Given the description of an element on the screen output the (x, y) to click on. 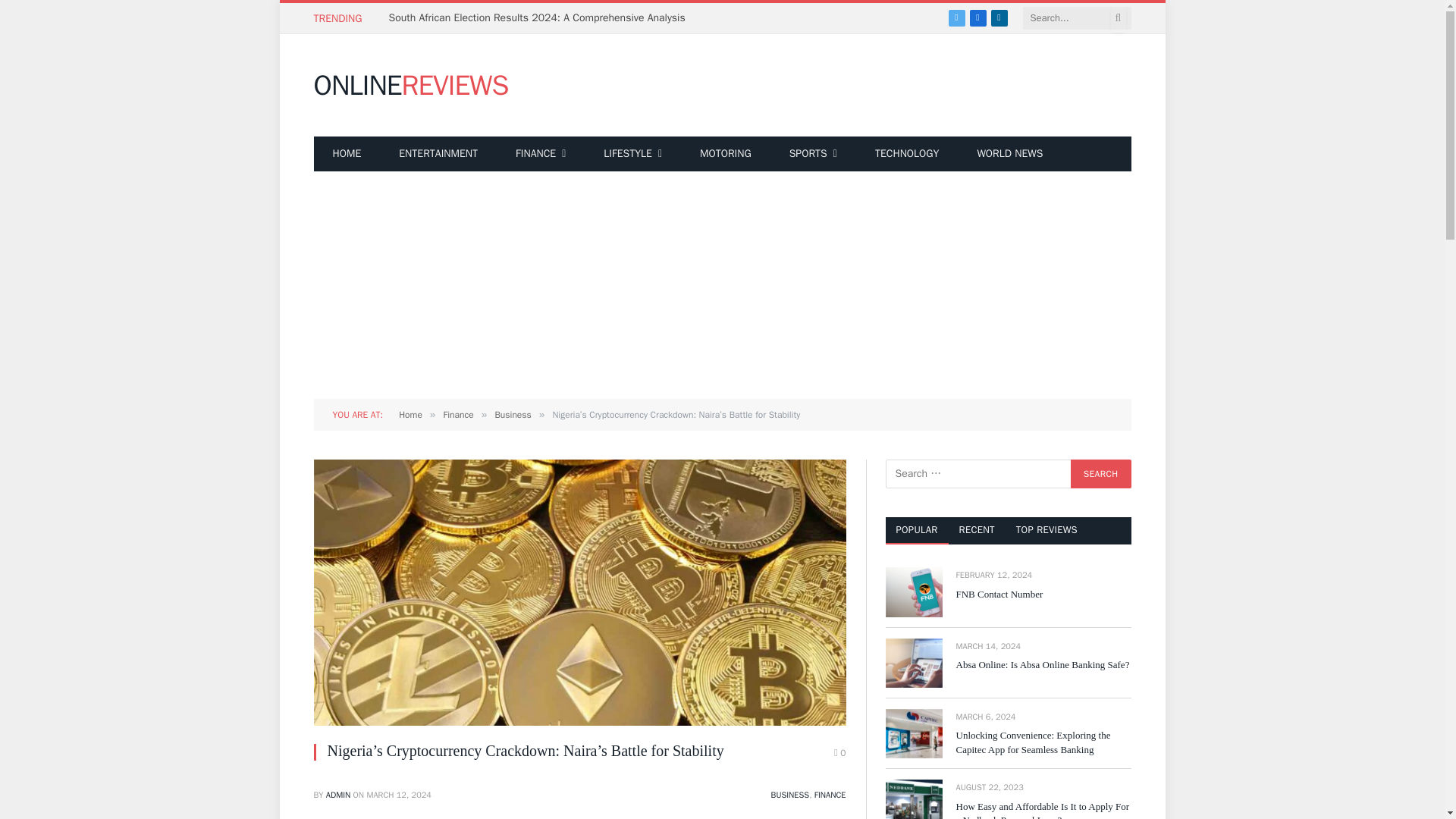
LinkedIn (998, 17)
LIFESTYLE (633, 153)
Online Reviews (411, 85)
FINANCE (540, 153)
Facebook (977, 17)
Search (1100, 473)
Posts by admin (338, 794)
ENTERTAINMENT (438, 153)
HOME (411, 85)
Search (347, 153)
